Given the description of an element on the screen output the (x, y) to click on. 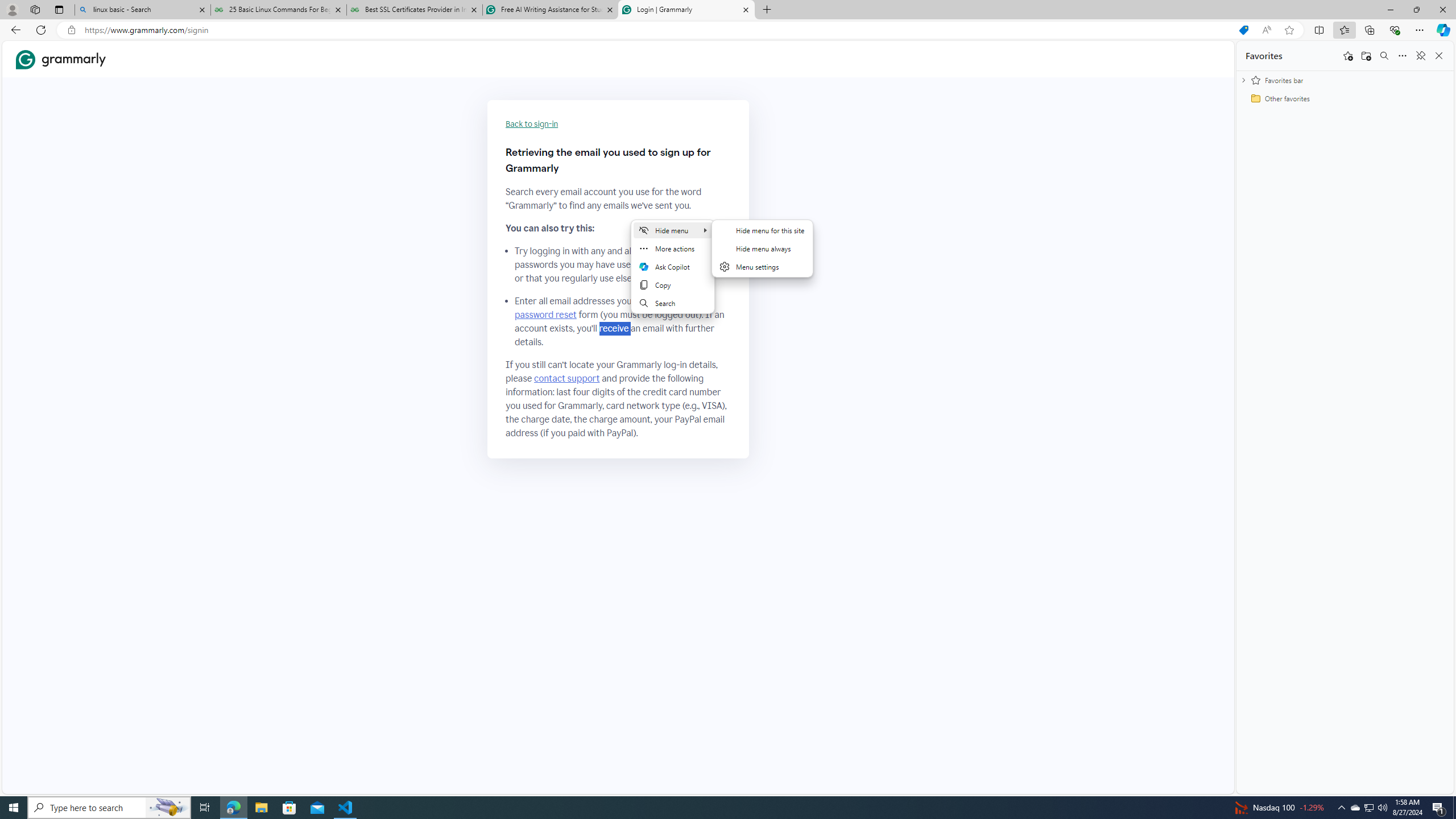
More actions (672, 248)
Copy (672, 285)
Login | Grammarly (685, 9)
